Given the description of an element on the screen output the (x, y) to click on. 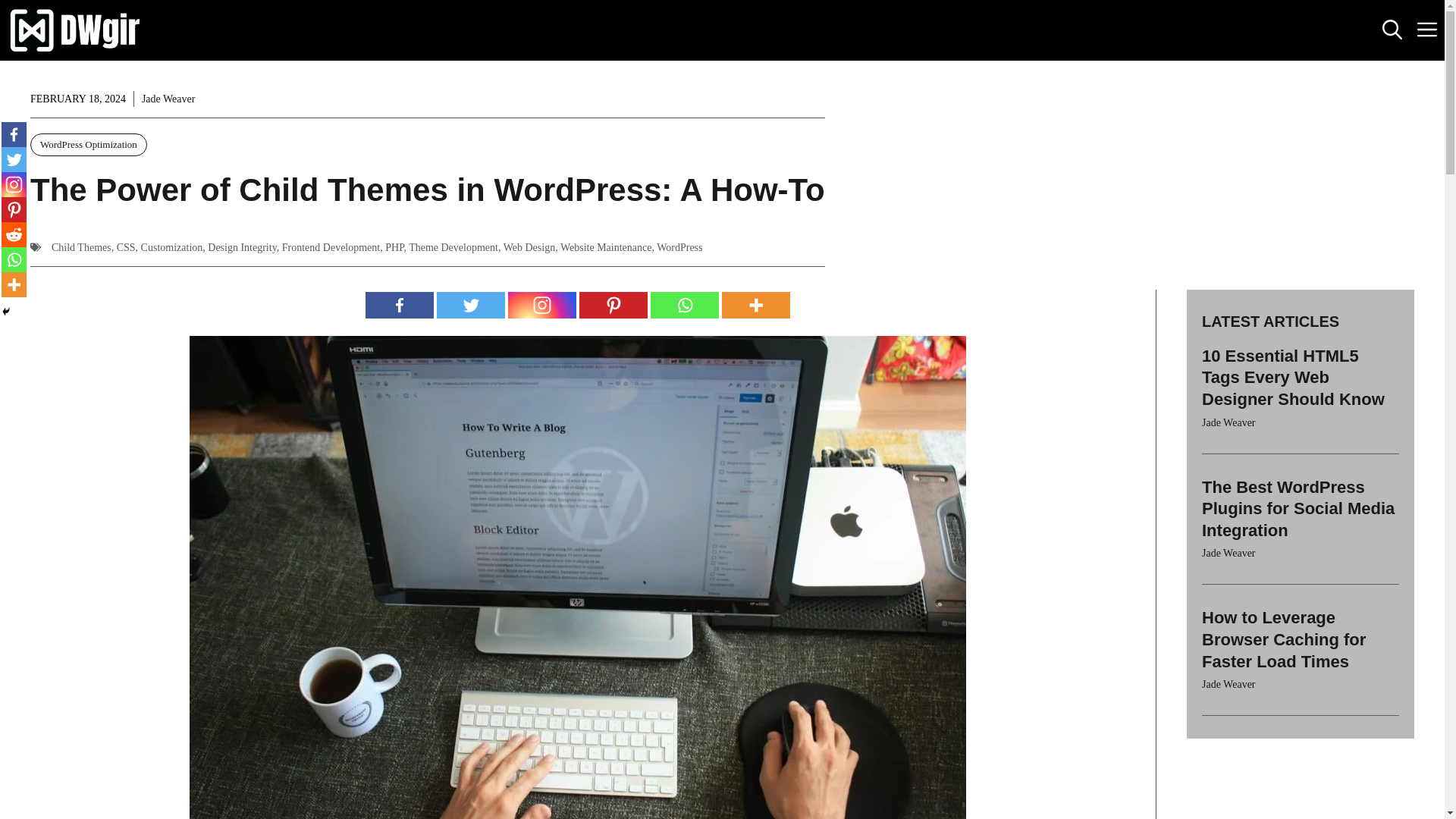
WordPress Optimization (88, 144)
Website Maintenance (606, 247)
WordPress (678, 247)
Theme Development (453, 247)
Twitter (470, 304)
More (756, 304)
CSS (125, 247)
Web Design (528, 247)
Instagram (542, 304)
Whatsapp (684, 304)
Frontend Development (331, 247)
Pinterest (613, 304)
Jade Weaver (168, 98)
DWgir (75, 30)
PHP (394, 247)
